Given the description of an element on the screen output the (x, y) to click on. 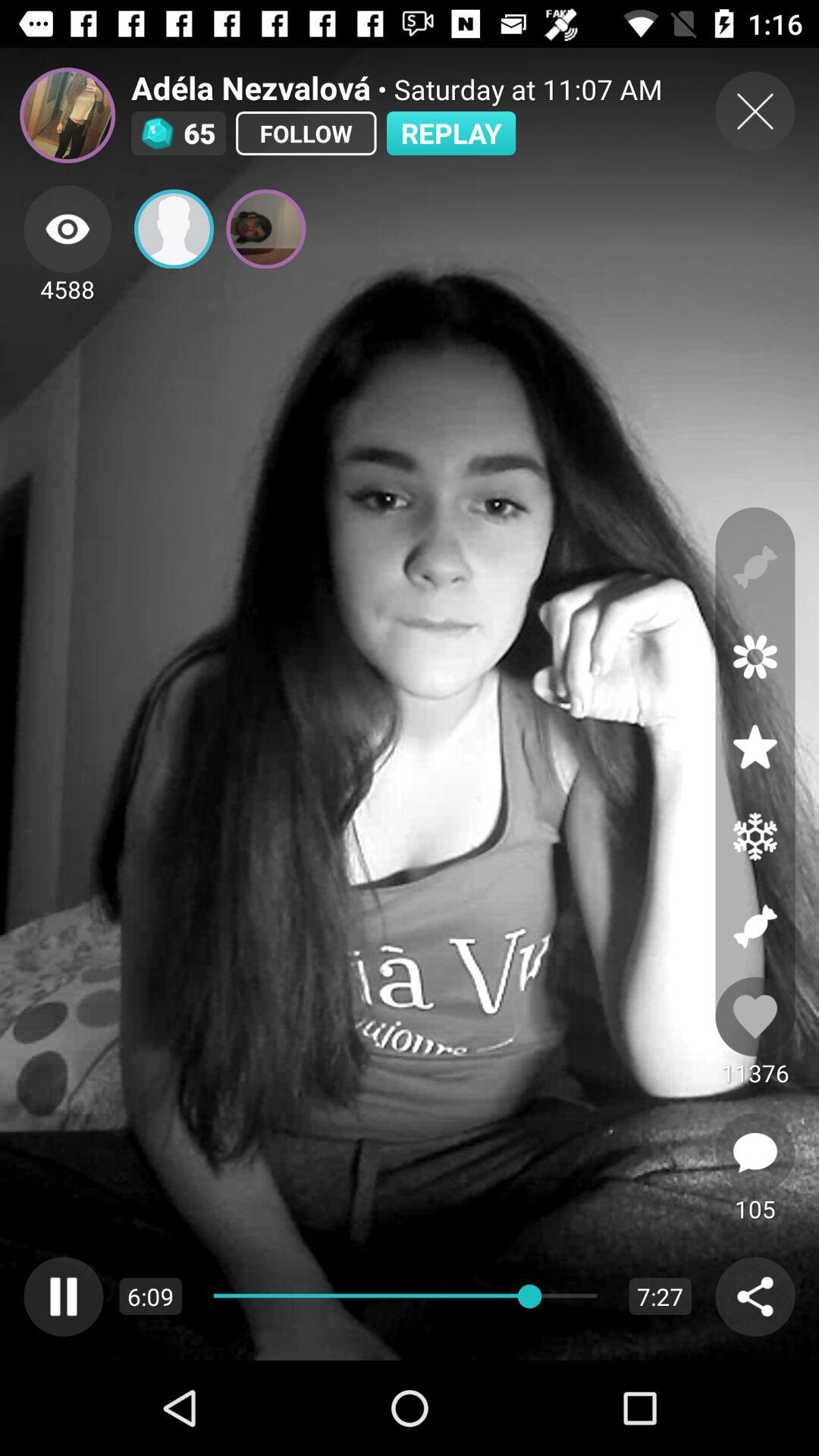
exit out of this video (755, 111)
